Given the description of an element on the screen output the (x, y) to click on. 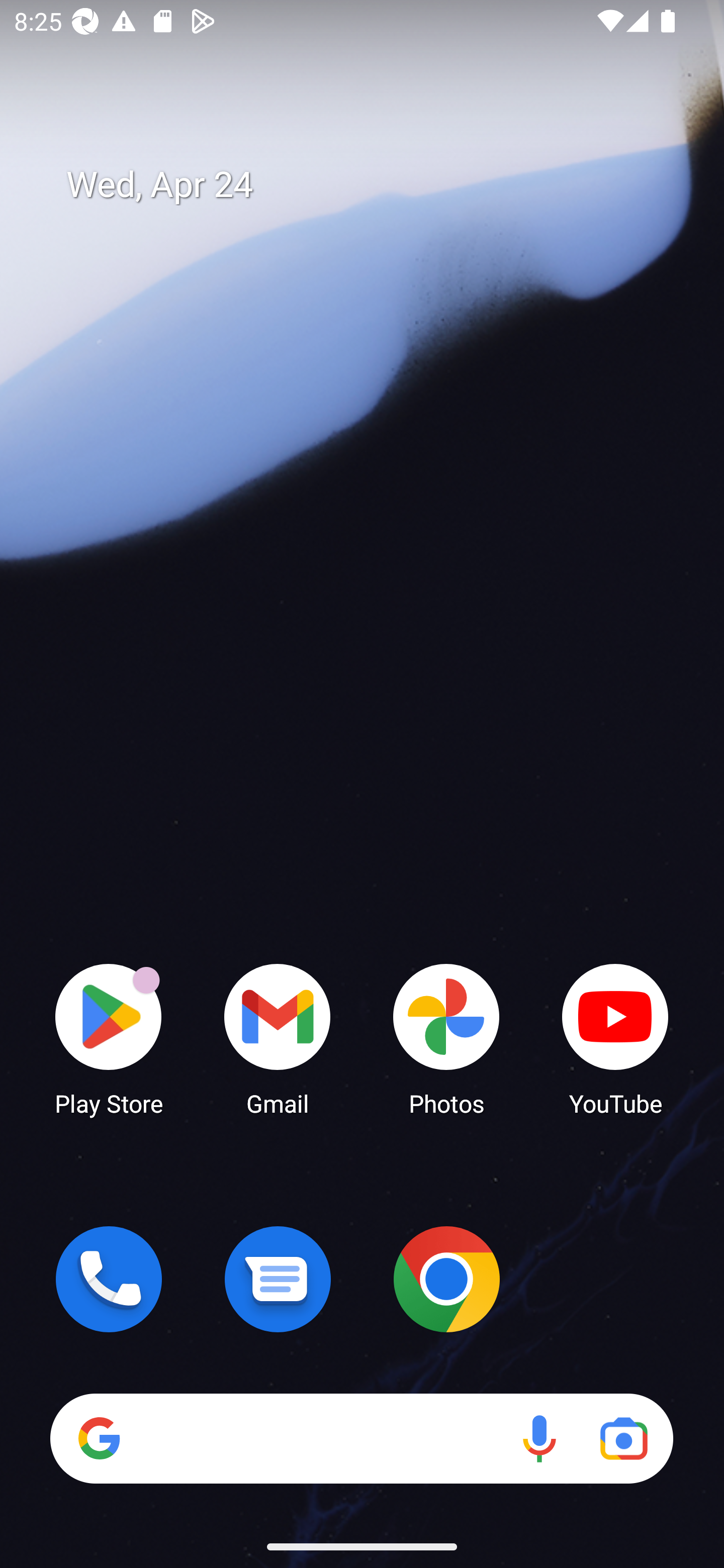
Wed, Apr 24 (375, 184)
Play Store Play Store has 1 notification (108, 1038)
Gmail (277, 1038)
Photos (445, 1038)
YouTube (615, 1038)
Phone (108, 1279)
Messages (277, 1279)
Chrome (446, 1279)
Search Voice search Google Lens (361, 1438)
Voice search (539, 1438)
Google Lens (623, 1438)
